Given the description of an element on the screen output the (x, y) to click on. 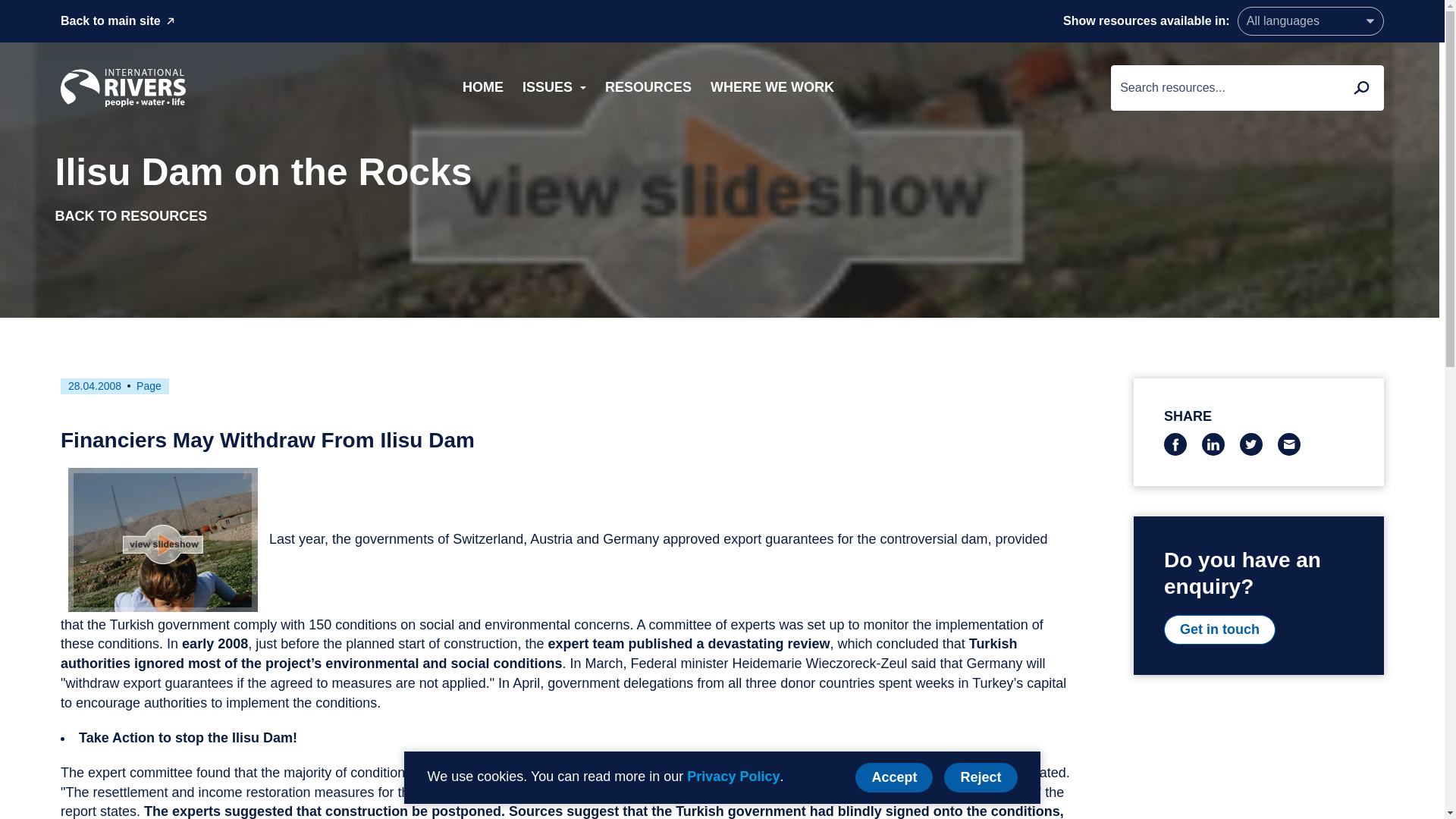
BACK TO RESOURCES (130, 216)
Page (148, 386)
Search (1360, 87)
Back to main site (117, 20)
Take Action to stop the Ilisu Dam! (187, 737)
Skip to content (16, 7)
Stop Ilisu Slideshow (162, 539)
Ilisu Action (187, 737)
Share this via Twitter (1251, 444)
RESOURCES (647, 88)
WHERE WE WORK (772, 88)
ISSUES (554, 88)
HOME (482, 88)
Share this via Email (1289, 444)
Share this via Facebook (1174, 444)
